Given the description of an element on the screen output the (x, y) to click on. 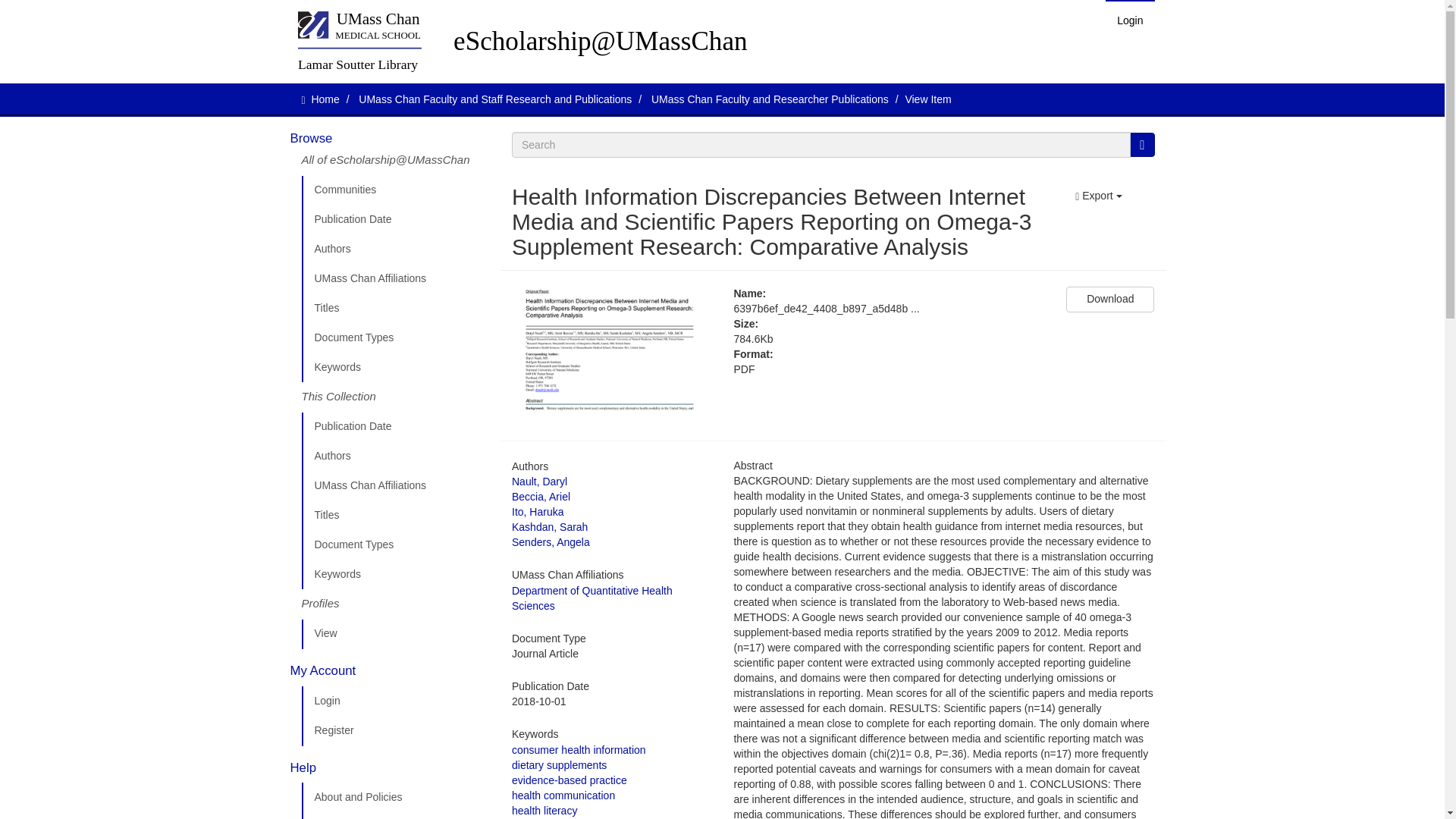
Login (395, 701)
Keywords (395, 367)
Titles (395, 515)
UMass Chan Affiliations (395, 485)
Home (325, 99)
Keywords (395, 574)
Submission Guidelines (395, 815)
Publication Date (395, 426)
Authors (395, 456)
View (395, 634)
